Given the description of an element on the screen output the (x, y) to click on. 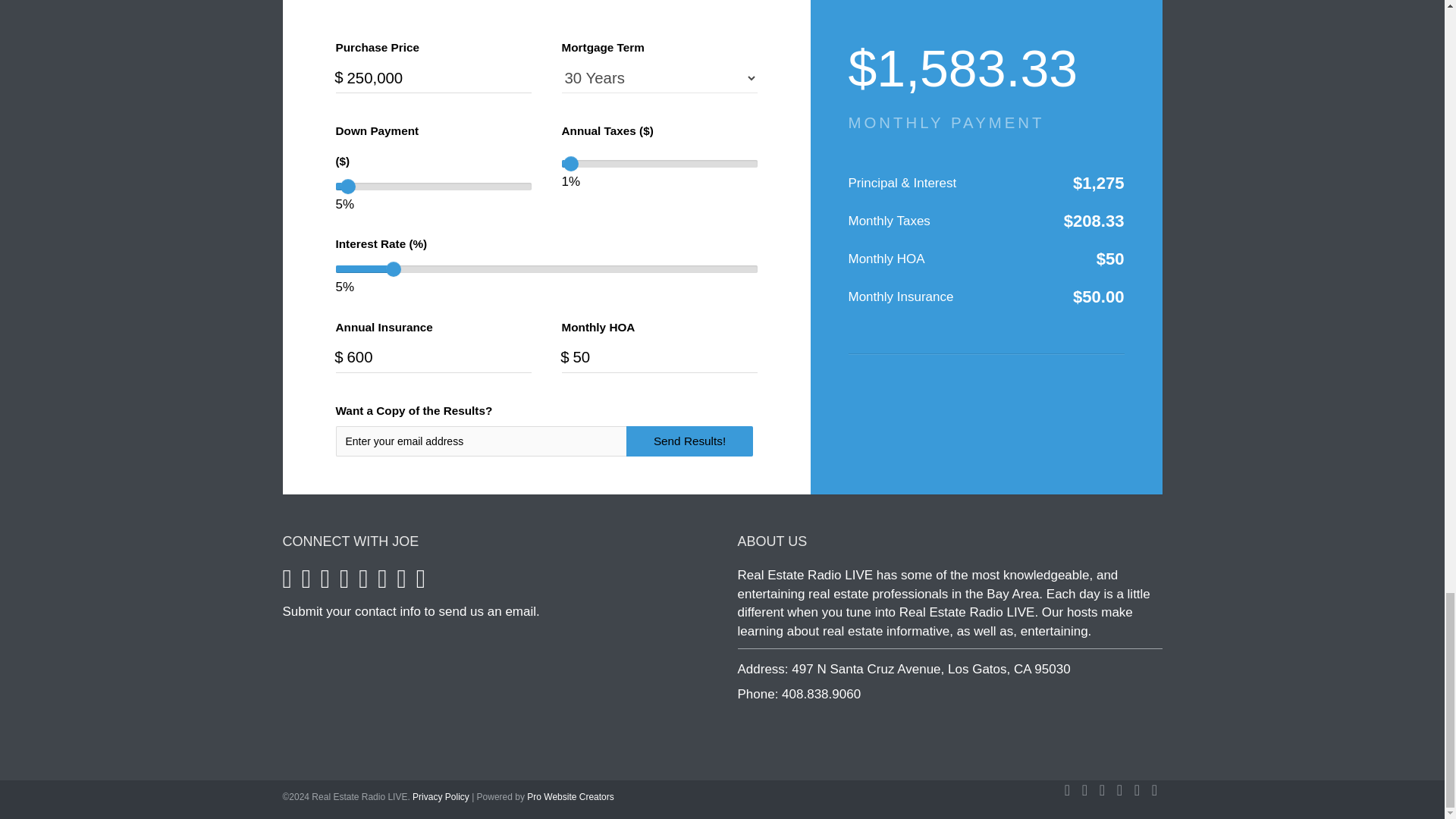
Visit Real Estate Radio LIVE on SoundCloud (325, 583)
Visit Real Estate Radio LIVE on Pinterest (382, 583)
Visit Real Estate Radio LIVE on Facebook (286, 583)
600 (432, 358)
Visit Real Estate Radio LIVE on LinkedIn (401, 583)
Visit Real Estate Radio LIVE on Vimeo (363, 583)
Visit Real Estate Radio LIVE on Instagram (344, 583)
250,000 (432, 78)
Visit Real Estate Radio LIVE on Yelp (420, 583)
Visit Real Estate Radio LIVE on Twitter (306, 583)
50 (658, 358)
Send Results! (689, 440)
